Given the description of an element on the screen output the (x, y) to click on. 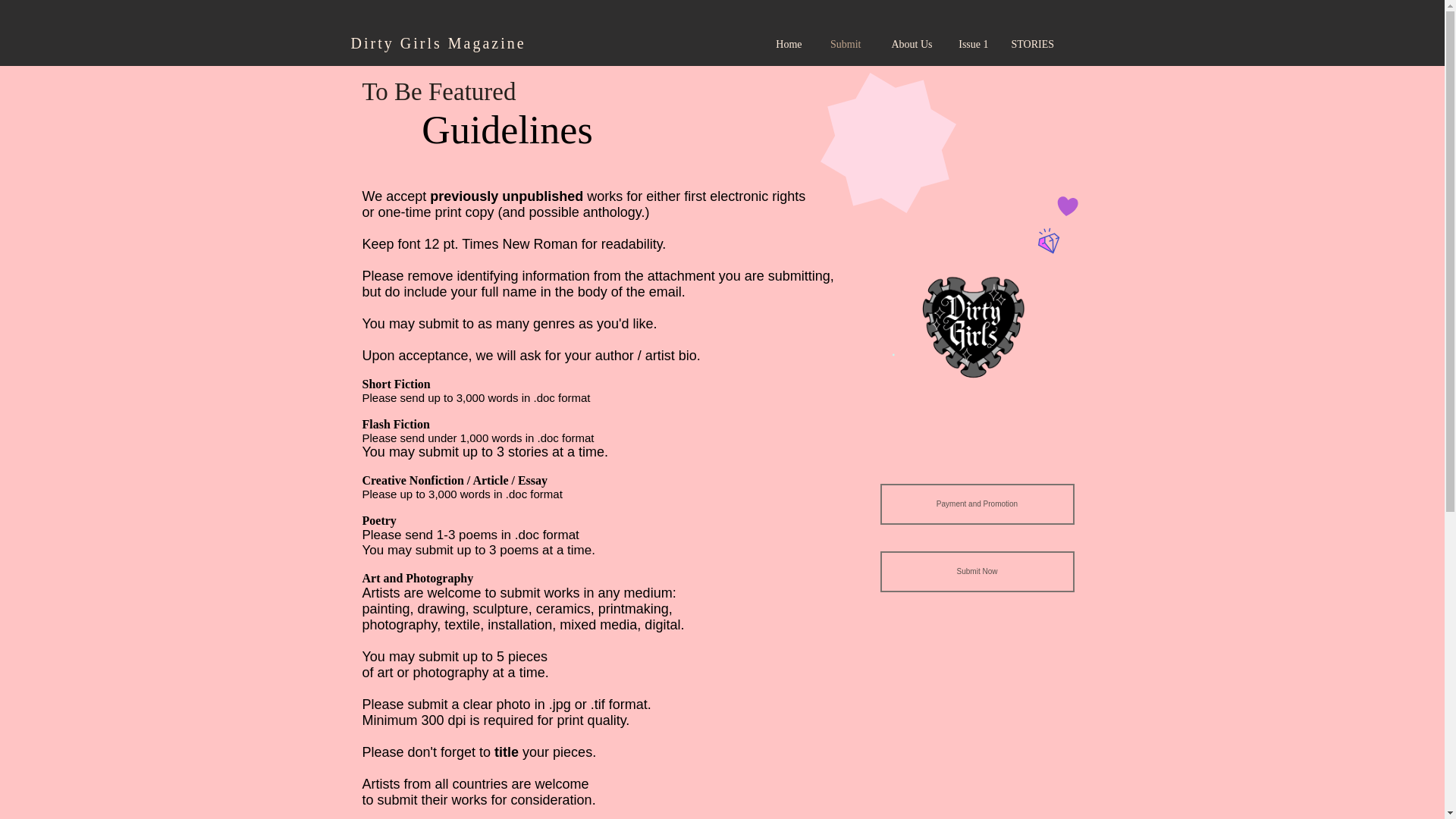
STORIES (1030, 44)
Dirty Girls Magazine (437, 43)
Submit (842, 44)
Issue 1 (970, 44)
Home (785, 44)
About Us (907, 44)
Payment and Promotion (976, 504)
Submit Now (976, 571)
